Given the description of an element on the screen output the (x, y) to click on. 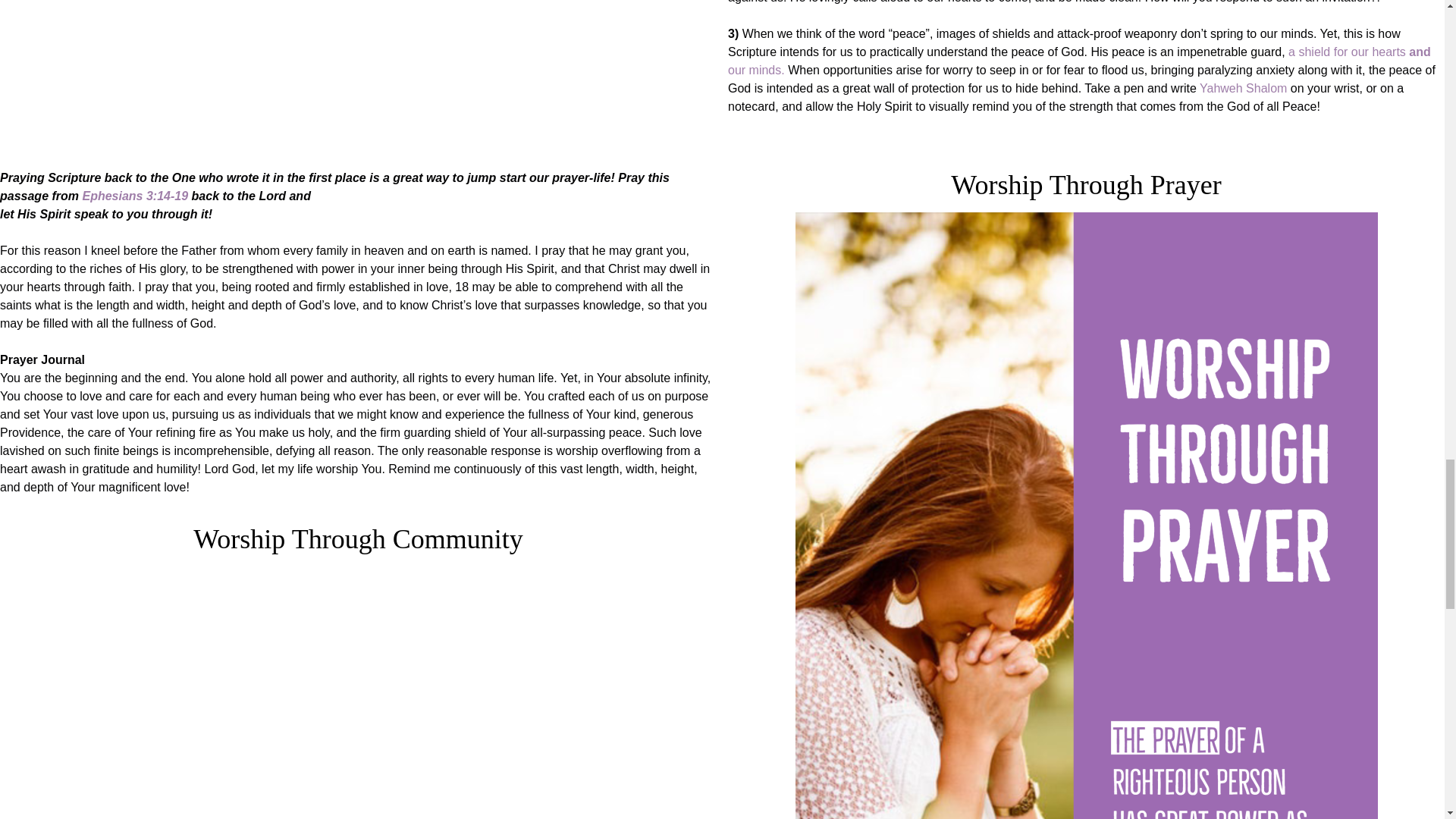
a shield for our hearts and our minds. (1079, 60)
Ephesians 3:14-19 (134, 195)
Yahweh Shalom (1243, 88)
